Given the description of an element on the screen output the (x, y) to click on. 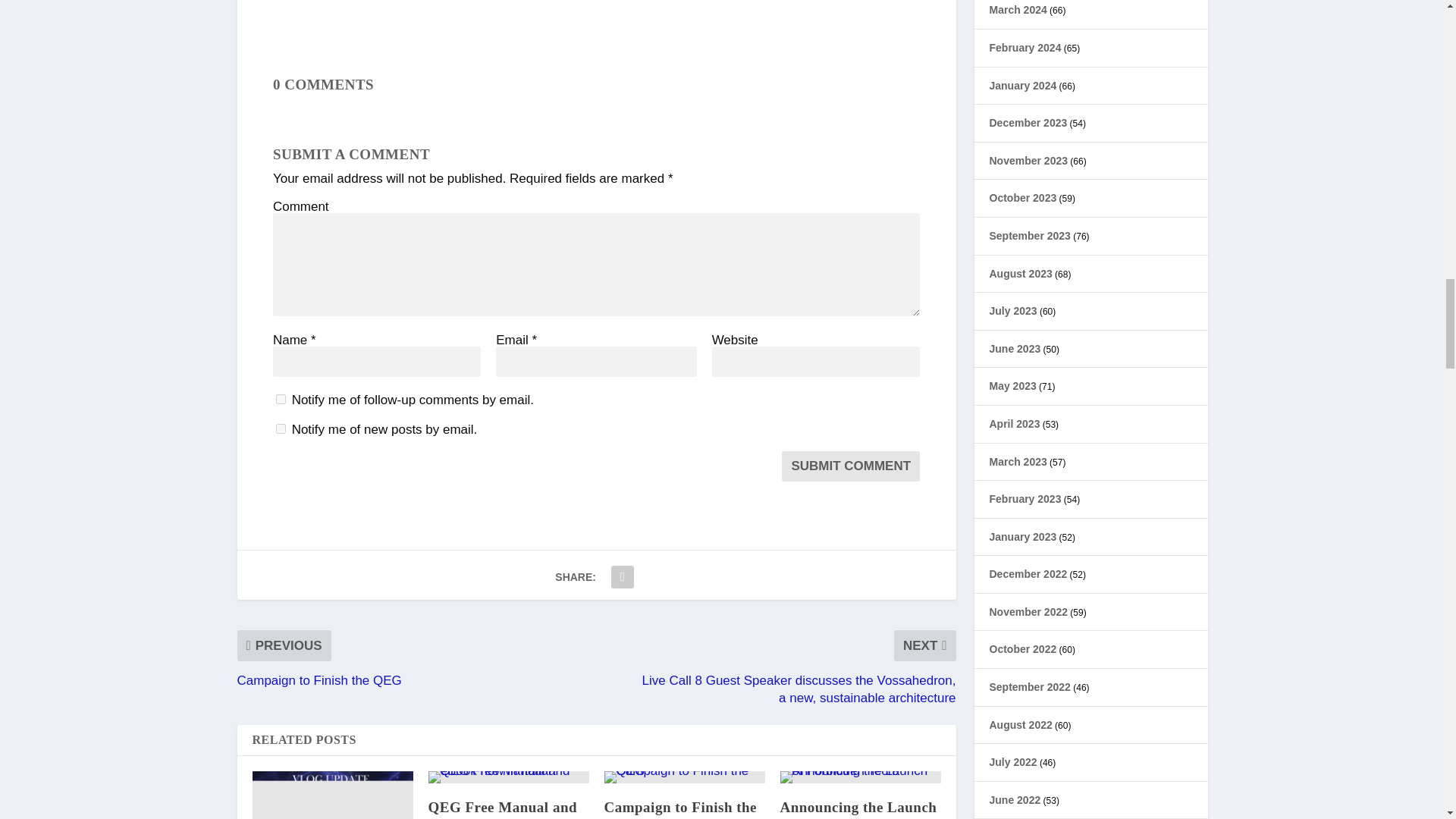
Announcing the Launch of Forbidden Tech! (857, 809)
Campaign to Finish the QEG (684, 776)
Announcing the Launch of Forbidden Tech! (859, 776)
SUBMIT COMMENT (850, 466)
subscribe (280, 398)
Share "Chasing Tesla The Movie" via Print (622, 576)
QEG Free Manual and eBook now in Italian (502, 809)
subscribe (280, 429)
Campaign to Finish the QEG (680, 809)
QEG Free Manual and eBook now in Italian (508, 776)
